Given the description of an element on the screen output the (x, y) to click on. 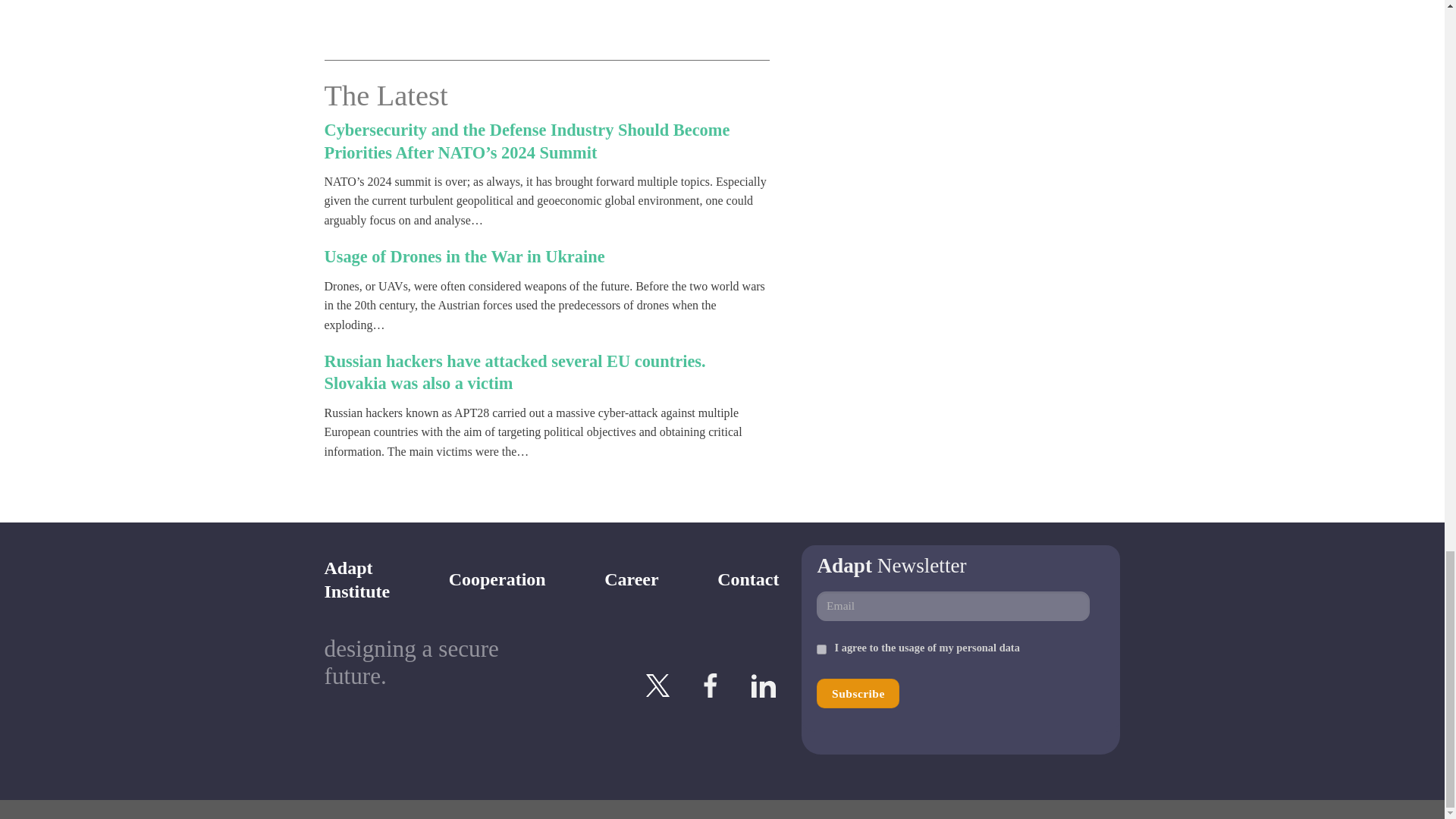
Usage of Drones in the War in Ukraine (464, 256)
Subscribe (857, 693)
Career (631, 578)
Subscribe (857, 693)
on (821, 649)
Cooperation (357, 579)
Contact (497, 578)
